Given the description of an element on the screen output the (x, y) to click on. 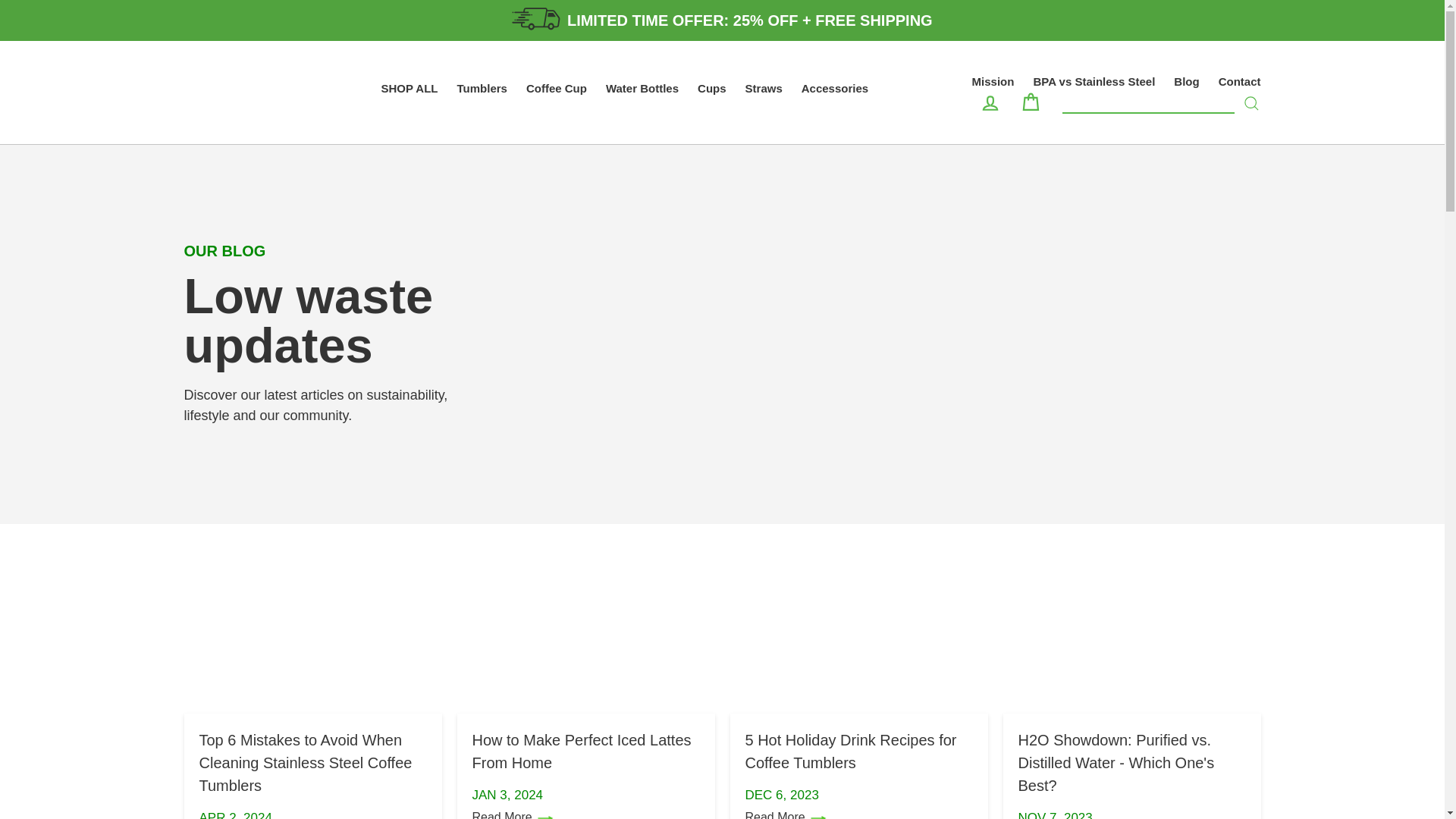
Cart (1029, 102)
Contact (1239, 81)
BPA vs Stainless Steel (1093, 81)
Mission (993, 81)
Straws (764, 88)
Coffee Cup (555, 88)
Cups (711, 88)
Water Bottles (641, 88)
Accessories (834, 88)
SHOP ALL (409, 88)
Tumblers (481, 88)
Blog (1185, 81)
Log in (990, 102)
